Given the description of an element on the screen output the (x, y) to click on. 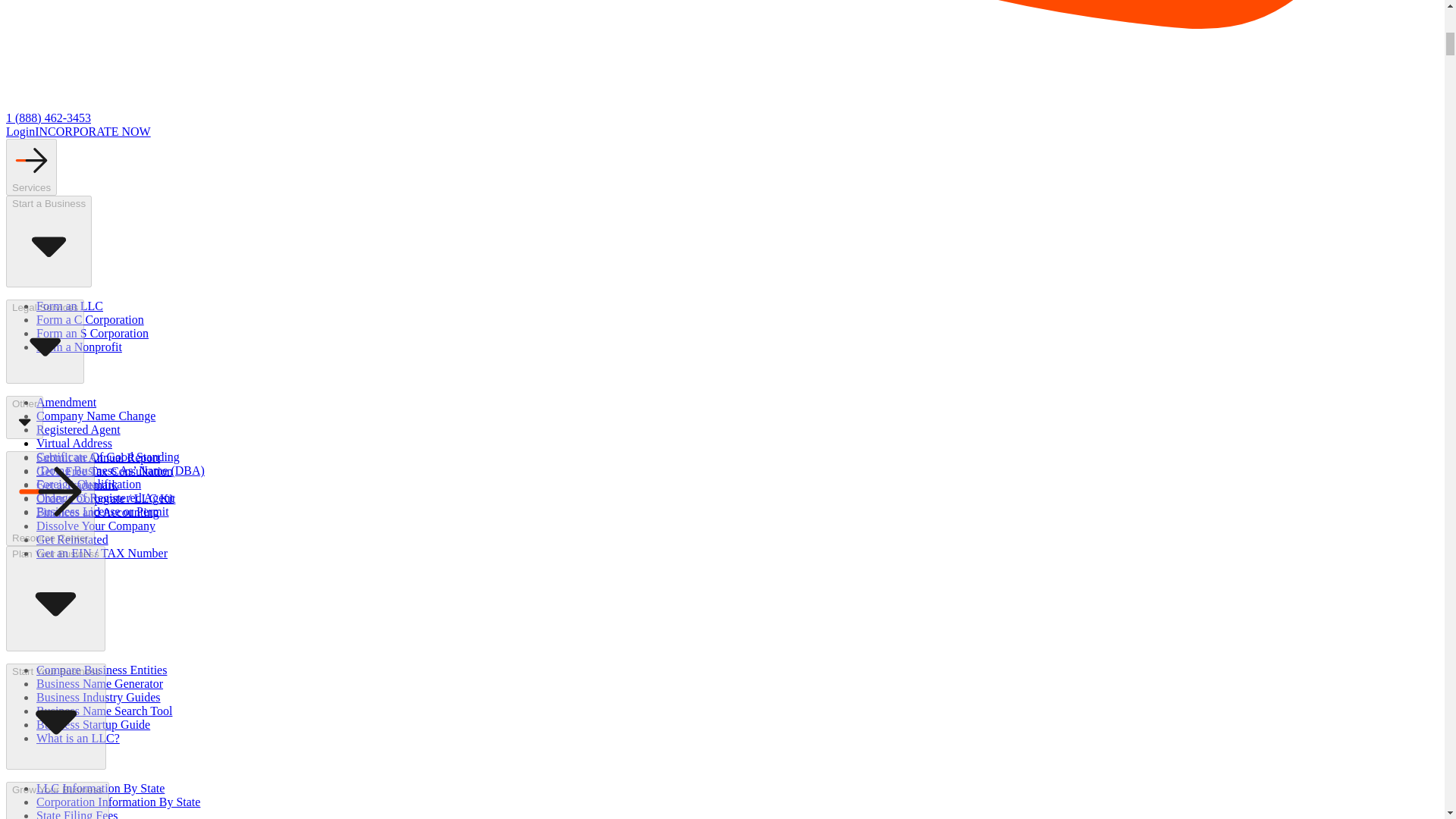
Amendment (66, 401)
Certificate Of Good Standing (107, 456)
INCORPORATE NOW (91, 131)
Change of Registered Agent (104, 497)
Company Name Change (95, 415)
Other (24, 416)
Legal Services (44, 341)
Get Reinstated (71, 539)
Get a Trademark (76, 484)
Login (19, 131)
Form an S Corporation (92, 332)
Submit an Annual Report (98, 457)
Form a C Corporation (90, 318)
Get a Free Tax Consultation (104, 471)
Form an LLC (69, 305)
